Given the description of an element on the screen output the (x, y) to click on. 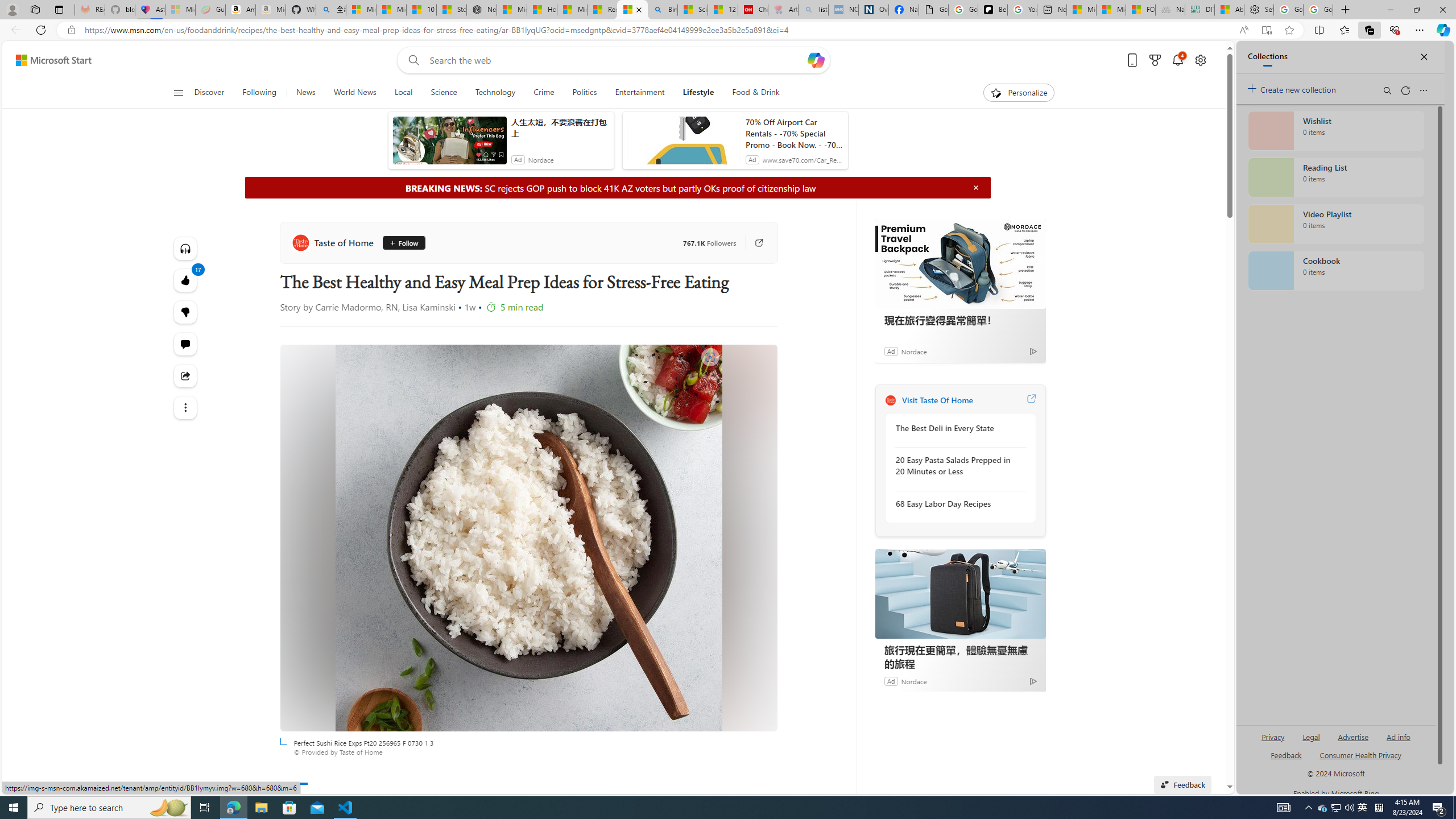
The Best Deli in Every State (957, 428)
Science (442, 92)
Lifestyle (697, 92)
Bing (662, 9)
Politics (584, 92)
Listen to this article (184, 248)
17 Like (184, 279)
